Given the description of an element on the screen output the (x, y) to click on. 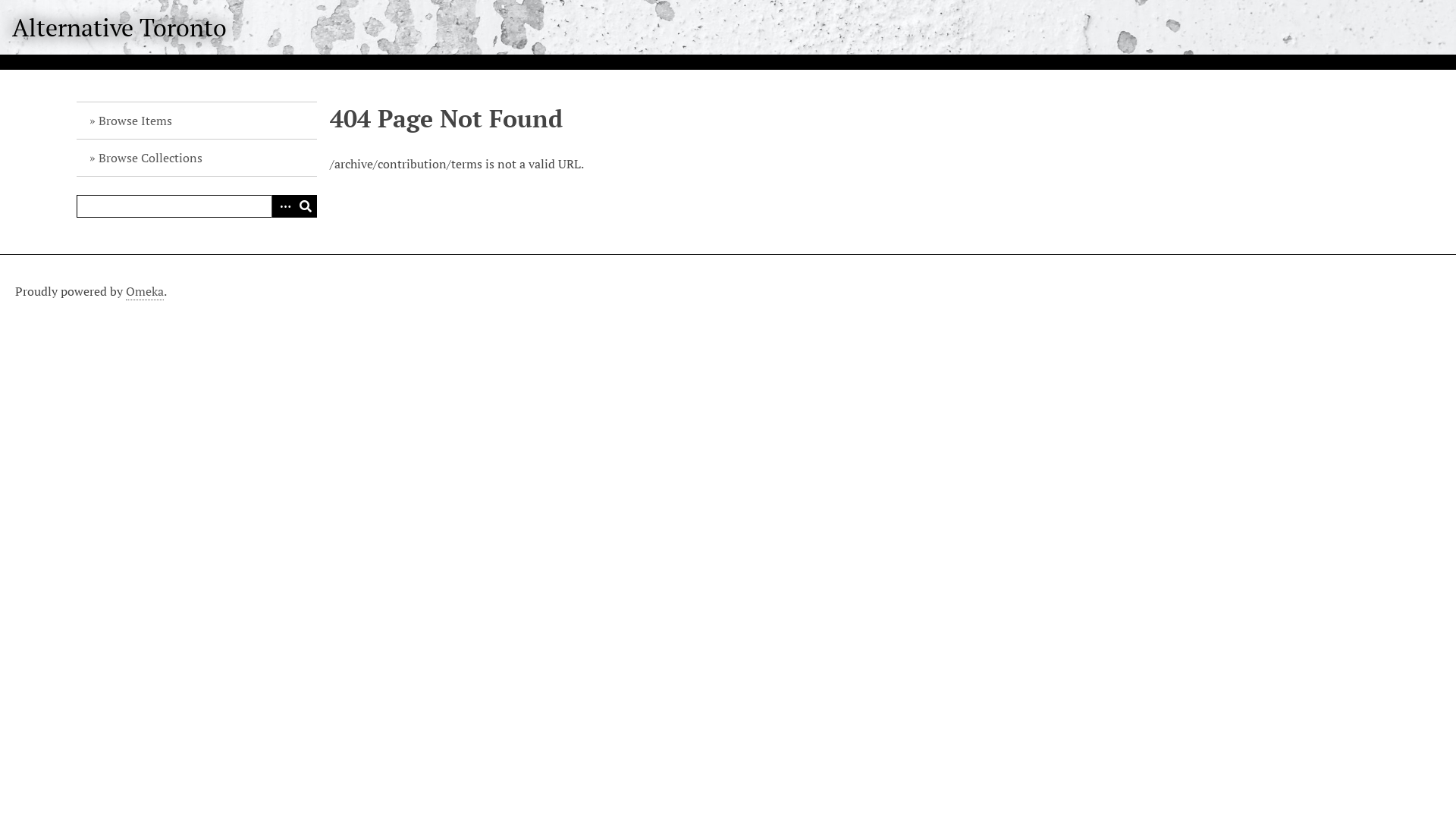
Browse Items Element type: text (196, 120)
Search Element type: text (305, 205)
Browse Collections Element type: text (196, 157)
Omeka Element type: text (144, 291)
Advanced Search Element type: text (282, 205)
Search Element type: hover (196, 205)
Alternative Toronto Element type: text (119, 27)
